Given the description of an element on the screen output the (x, y) to click on. 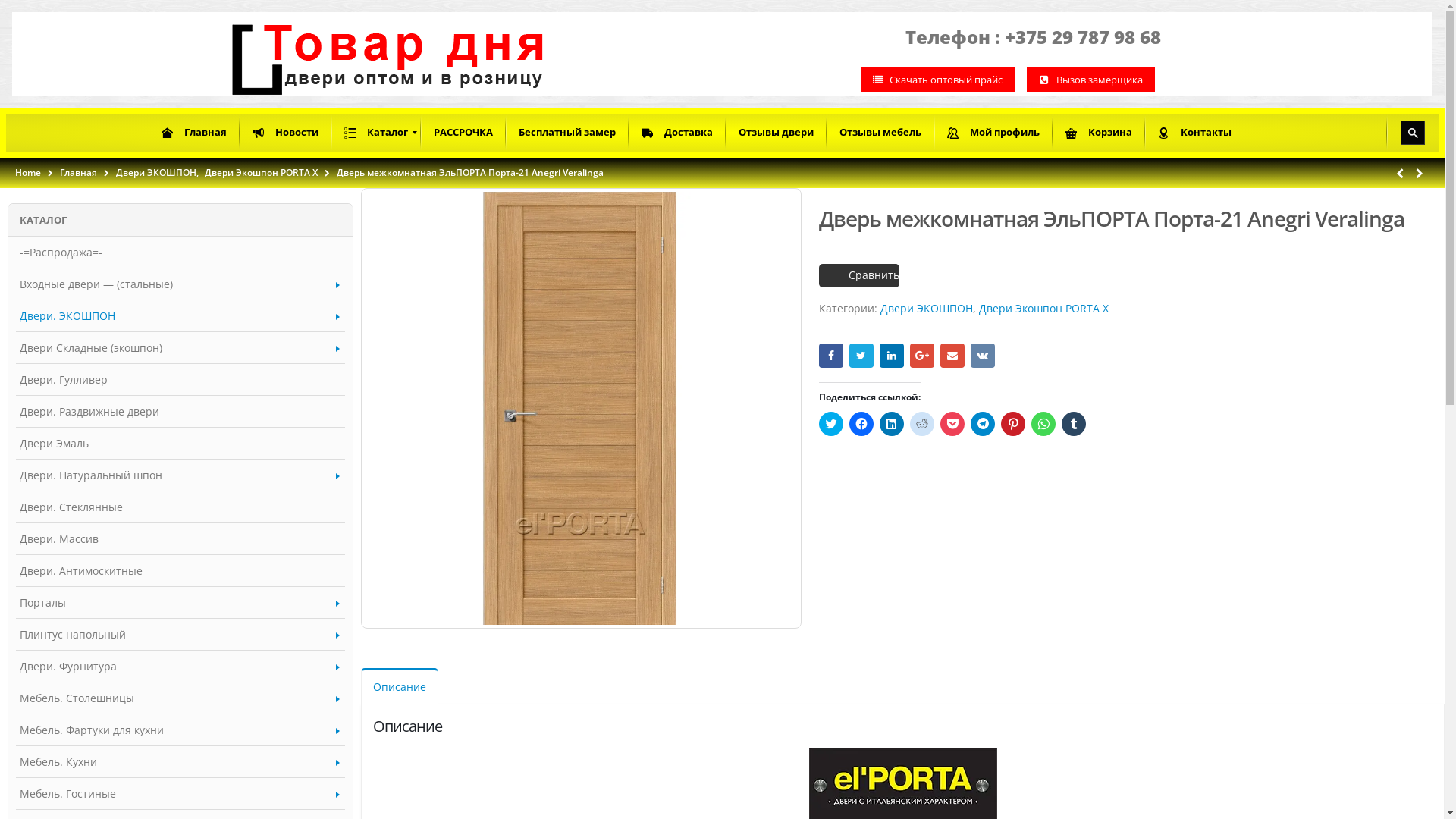
Twitter Element type: text (861, 355)
Facebook Element type: text (831, 355)
Search Element type: text (11, 9)
VK Element type: text (982, 355)
LinkedIn Element type: text (891, 355)
Home Element type: text (27, 172)
Google + Element type: text (922, 355)
Email Element type: text (952, 355)
